Given the description of an element on the screen output the (x, y) to click on. 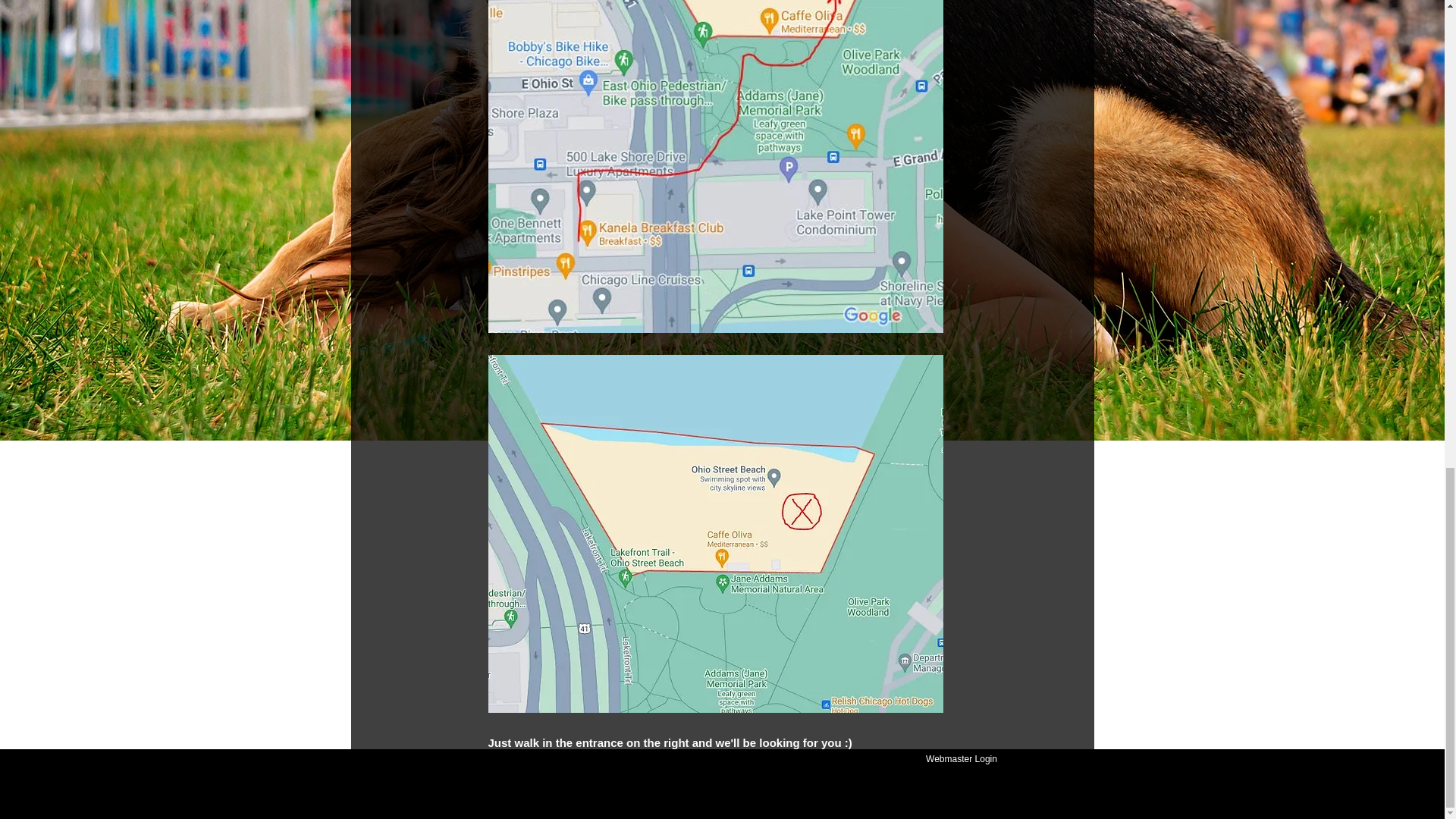
Webmaster Login (960, 759)
